Given the description of an element on the screen output the (x, y) to click on. 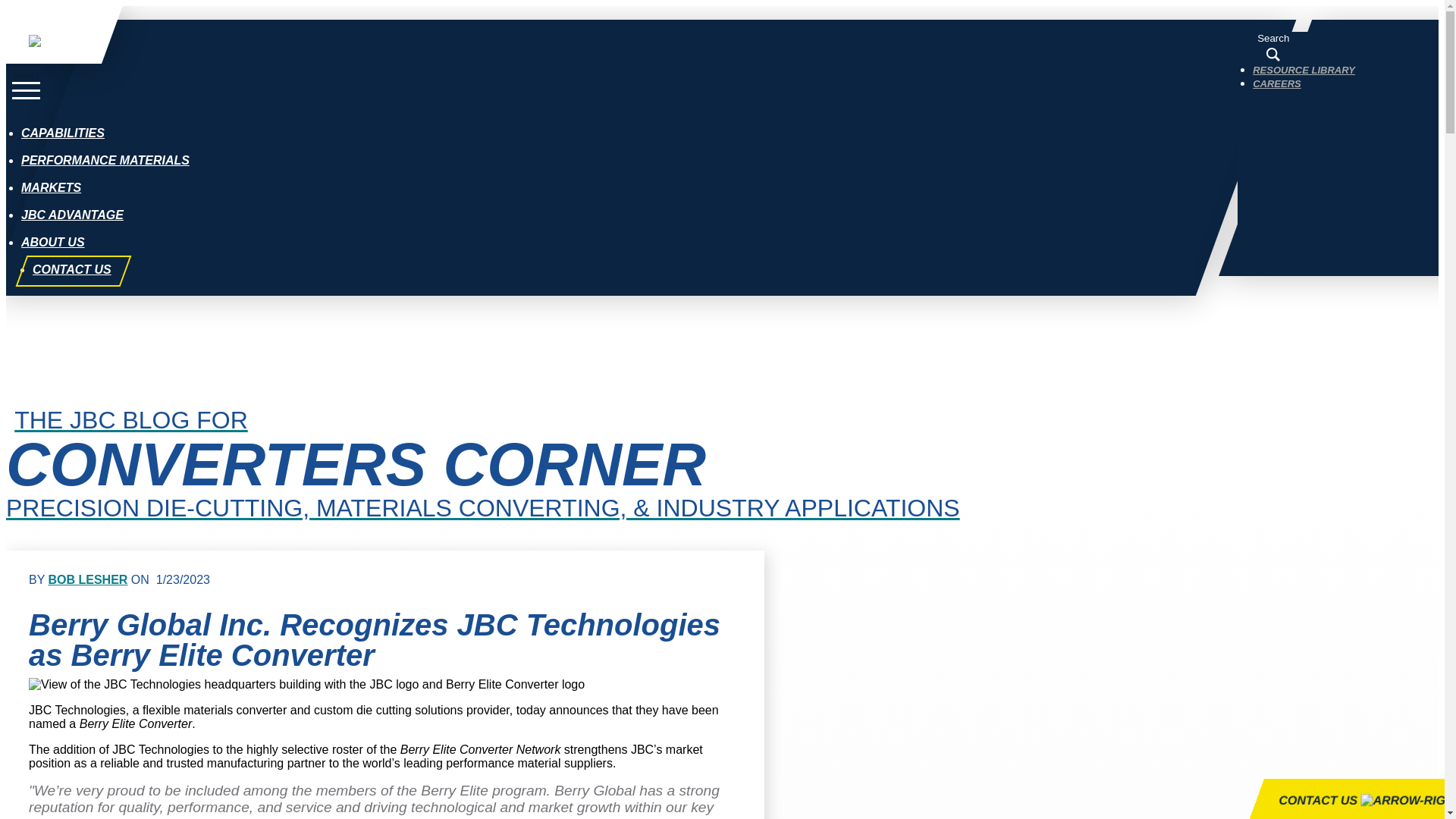
menu (25, 87)
PERFORMANCE MATERIALS (105, 160)
Skip to Content (50, 11)
CAPABILITIES (62, 132)
